Given the description of an element on the screen output the (x, y) to click on. 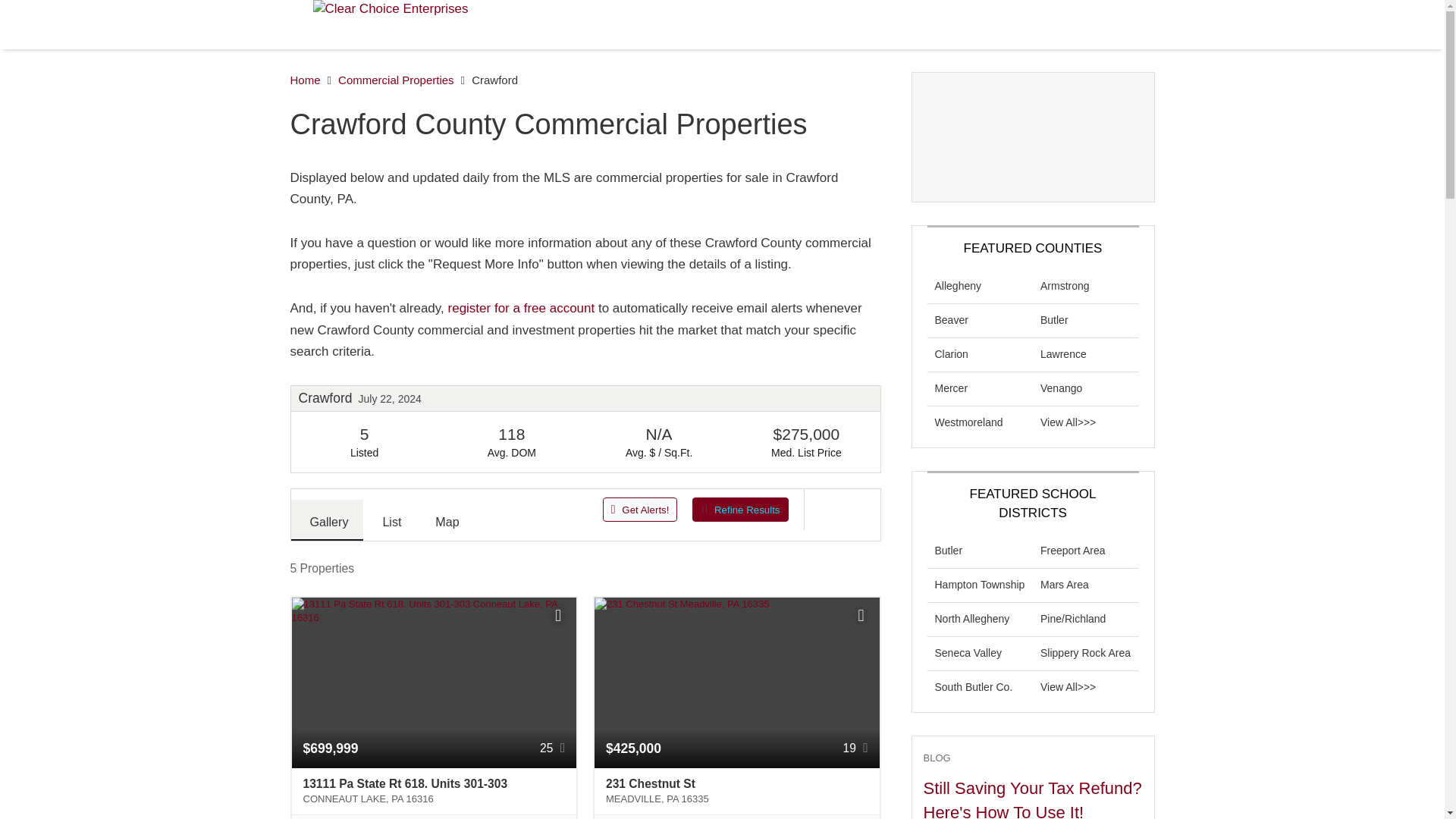
231 Chestnut St Meadville,  PA 16335 (736, 791)
Email Listing Alerts (521, 308)
